Given the description of an element on the screen output the (x, y) to click on. 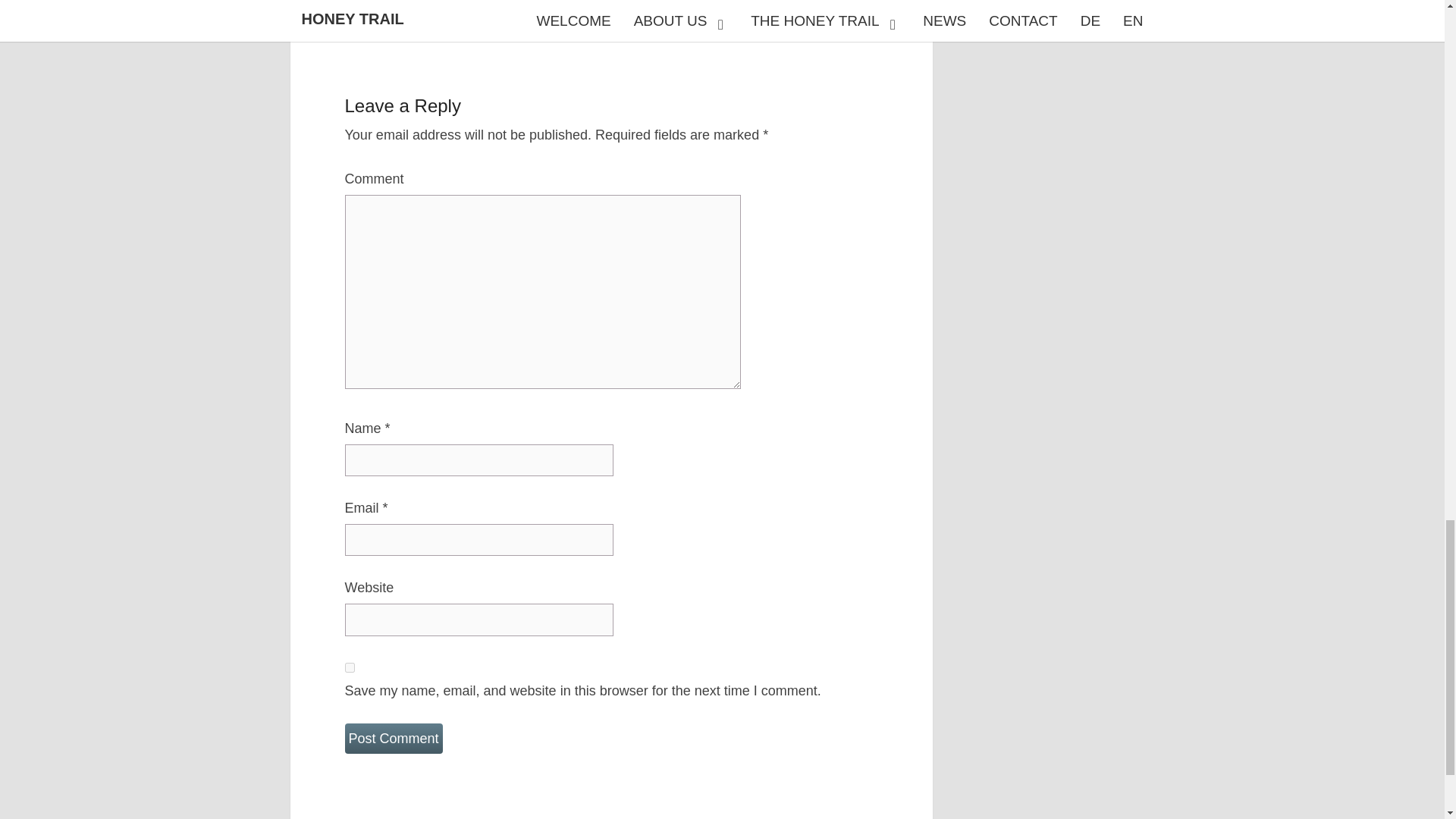
Post Comment (392, 738)
yes (348, 667)
Post Comment (392, 738)
